Given the description of an element on the screen output the (x, y) to click on. 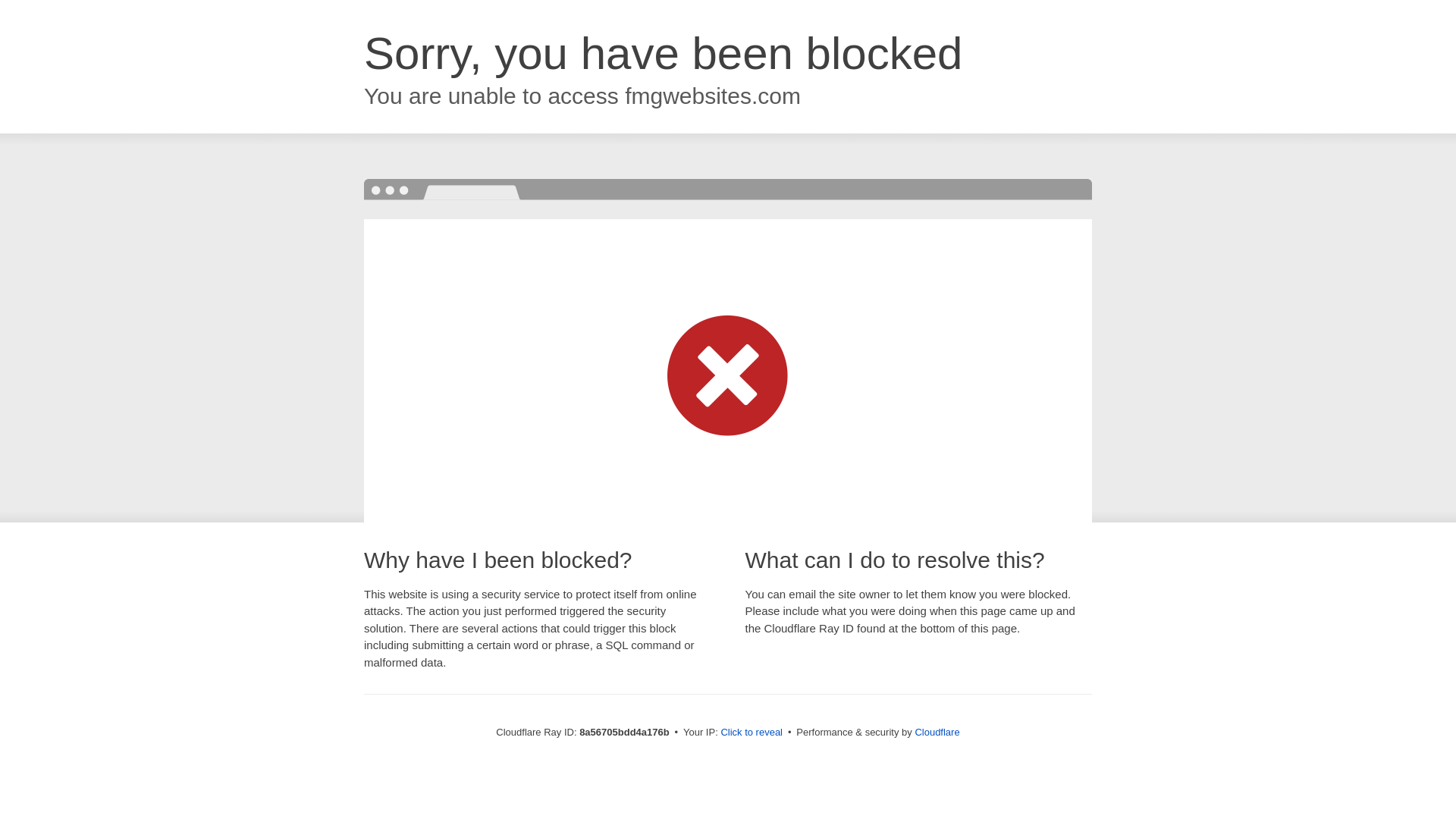
Click to reveal (751, 732)
Cloudflare (936, 731)
